Given the description of an element on the screen output the (x, y) to click on. 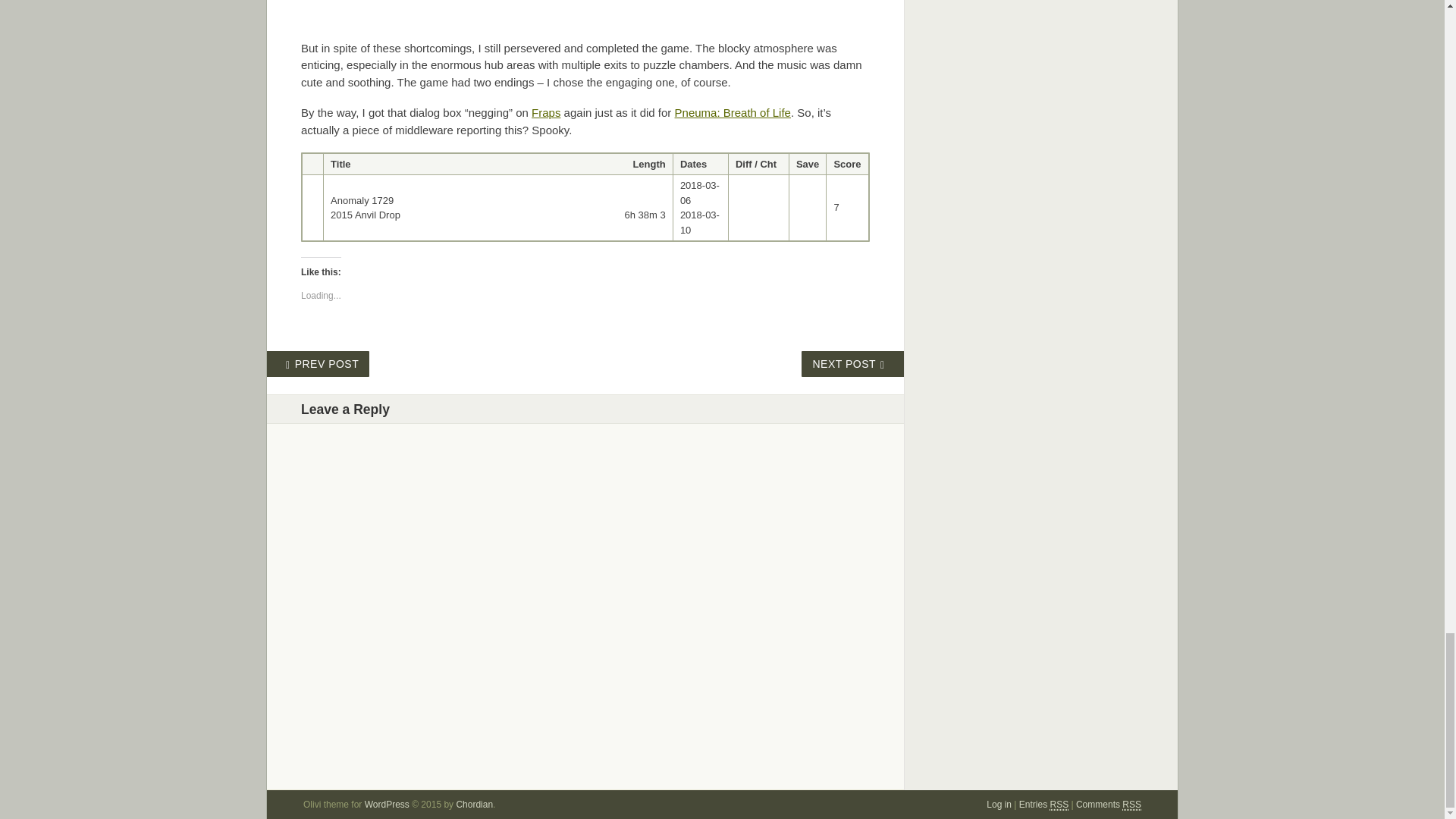
The latest comments to all posts in RSS (1108, 804)
Pneuma: Breath of Life (732, 112)
Fraps (545, 112)
Really Simple Syndication (1131, 804)
PREV POST (316, 363)
NEXT POST (853, 363)
Really Simple Syndication (1058, 804)
Syndicate this site using RSS (1043, 804)
